Given the description of an element on the screen output the (x, y) to click on. 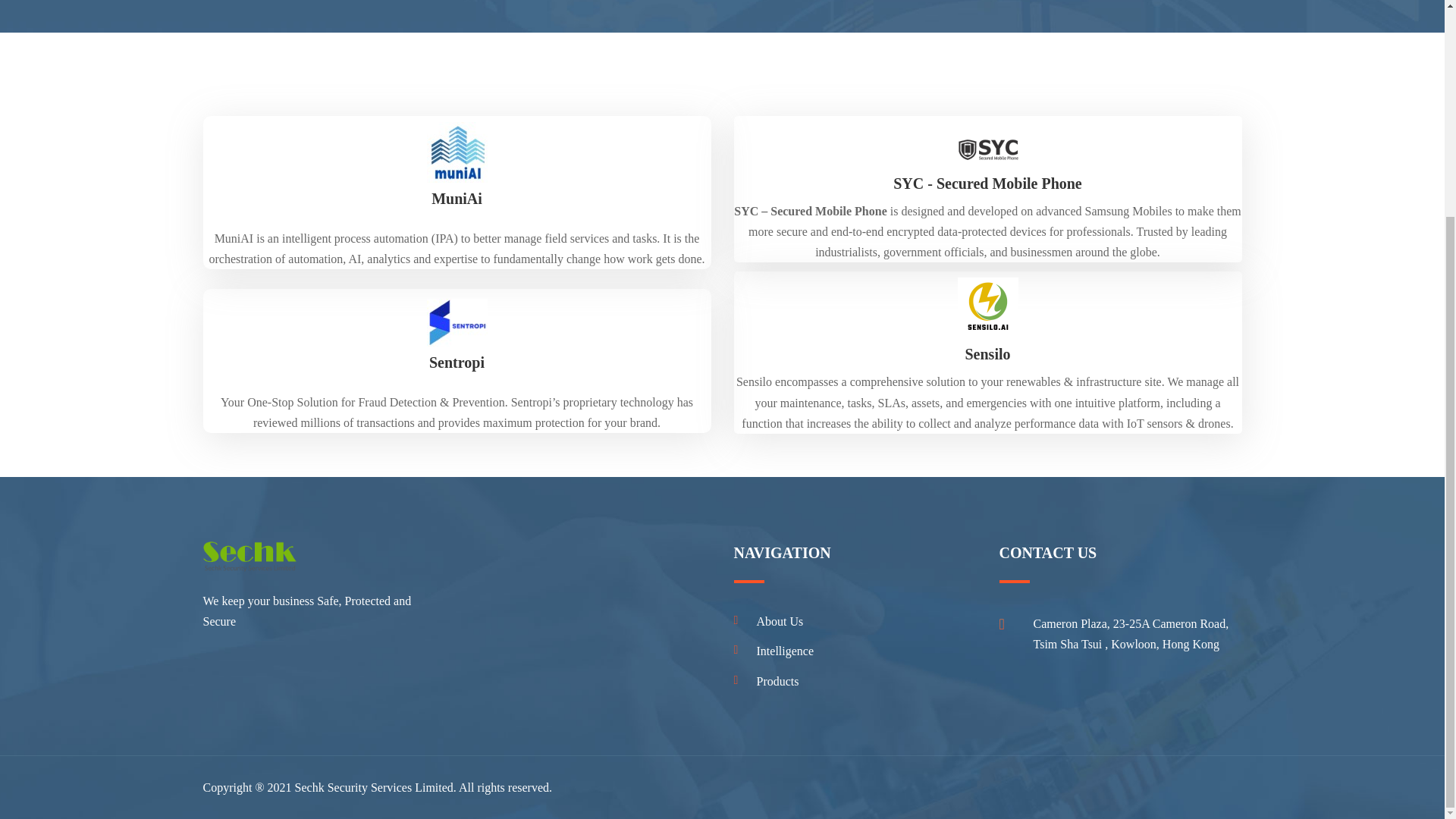
Products (766, 682)
About Us (768, 622)
MuniAi (455, 198)
Intelligence (773, 652)
SYC - Secured Mobile Phone (987, 183)
Sensilo (986, 353)
Sentropi (456, 362)
